Given the description of an element on the screen output the (x, y) to click on. 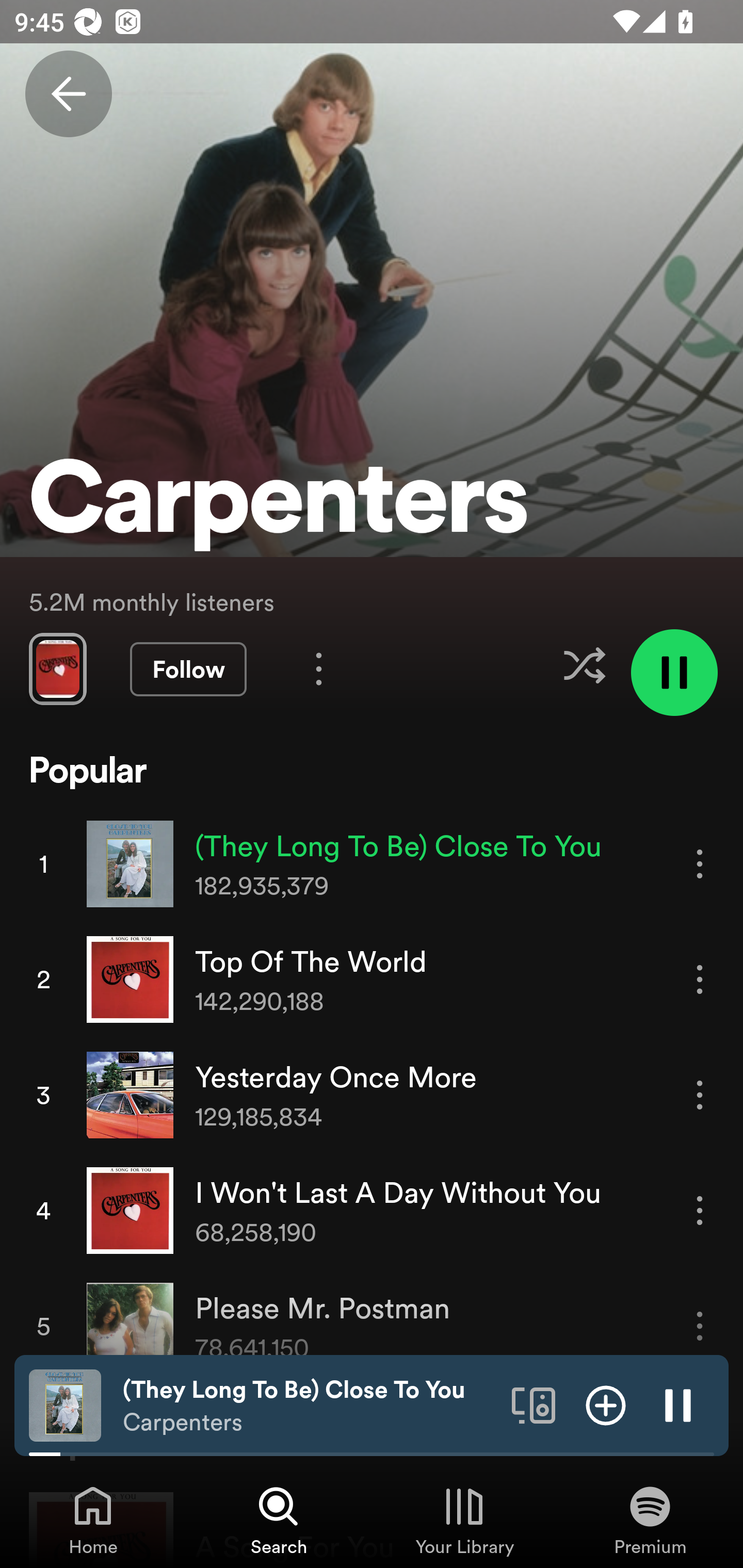
Back (68, 93)
Enable shuffle for this artist (583, 665)
Swipe through previews of tracks from this artist. (57, 668)
More options for artist Carpenters (318, 668)
Pause artist (674, 672)
Follow (188, 669)
More options for song Top Of The World (699, 979)
More options for song Yesterday Once More (699, 1095)
More options for song Please Mr. Postman (699, 1325)
(They Long To Be) Close To You Carpenters (309, 1405)
The cover art of the currently playing track (64, 1404)
Connect to a device. Opens the devices menu (533, 1404)
Add item (605, 1404)
Pause (677, 1404)
Home, Tab 1 of 4 Home Home (92, 1519)
Search, Tab 2 of 4 Search Search (278, 1519)
Your Library, Tab 3 of 4 Your Library Your Library (464, 1519)
Premium, Tab 4 of 4 Premium Premium (650, 1519)
